Given the description of an element on the screen output the (x, y) to click on. 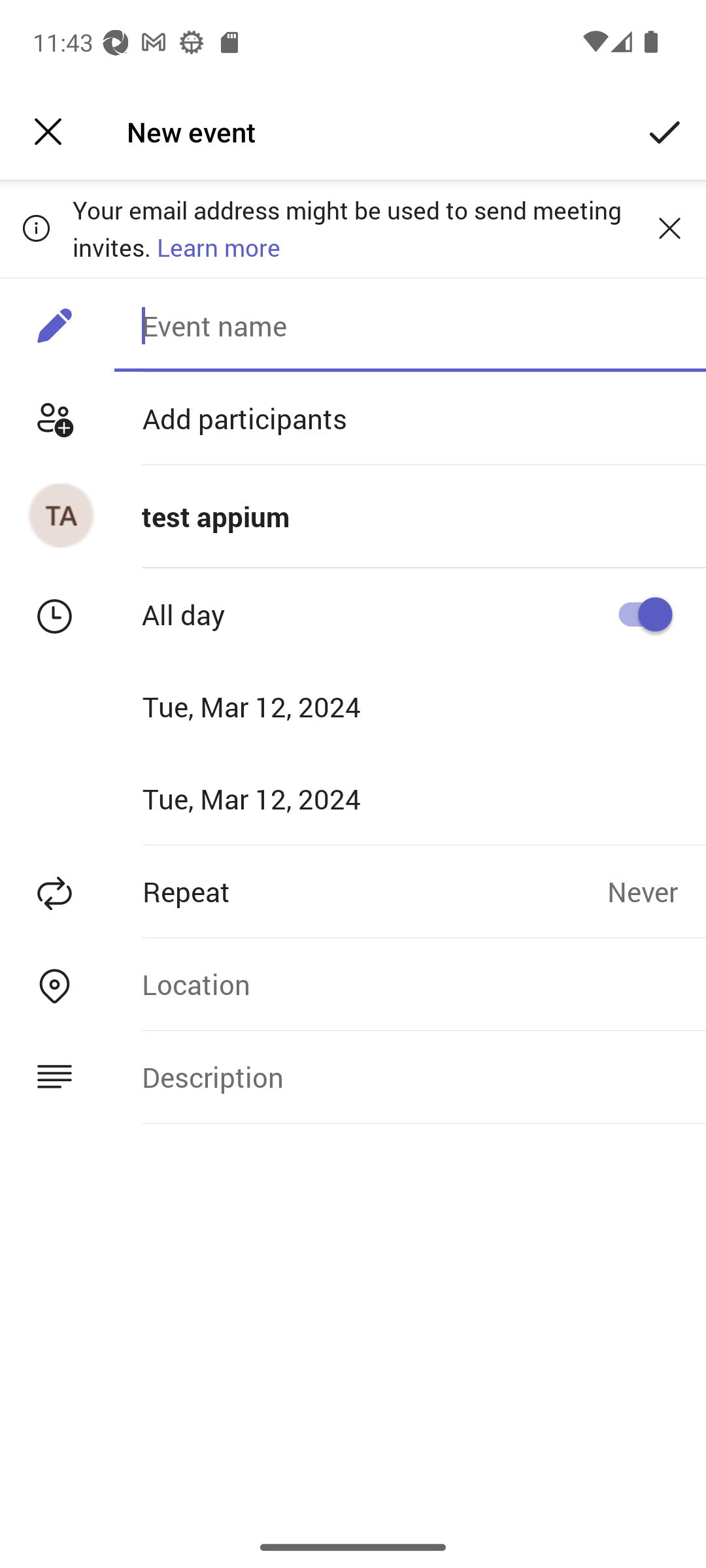
Back (48, 131)
Send invite (665, 131)
Dismiss banner (669, 228)
Event name (410, 325)
Add participants Add participants option (353, 418)
All day (638, 614)
Tue, Mar 12, 2024 Starts Tuesday Mar 12, 2024 (273, 706)
Tue, Mar 12, 2024 Ends Tuesday Mar 12, 2024 (273, 798)
Repeat (303, 891)
Never Repeat Never (656, 891)
Location (410, 983)
Description (410, 1076)
